Given the description of an element on the screen output the (x, y) to click on. 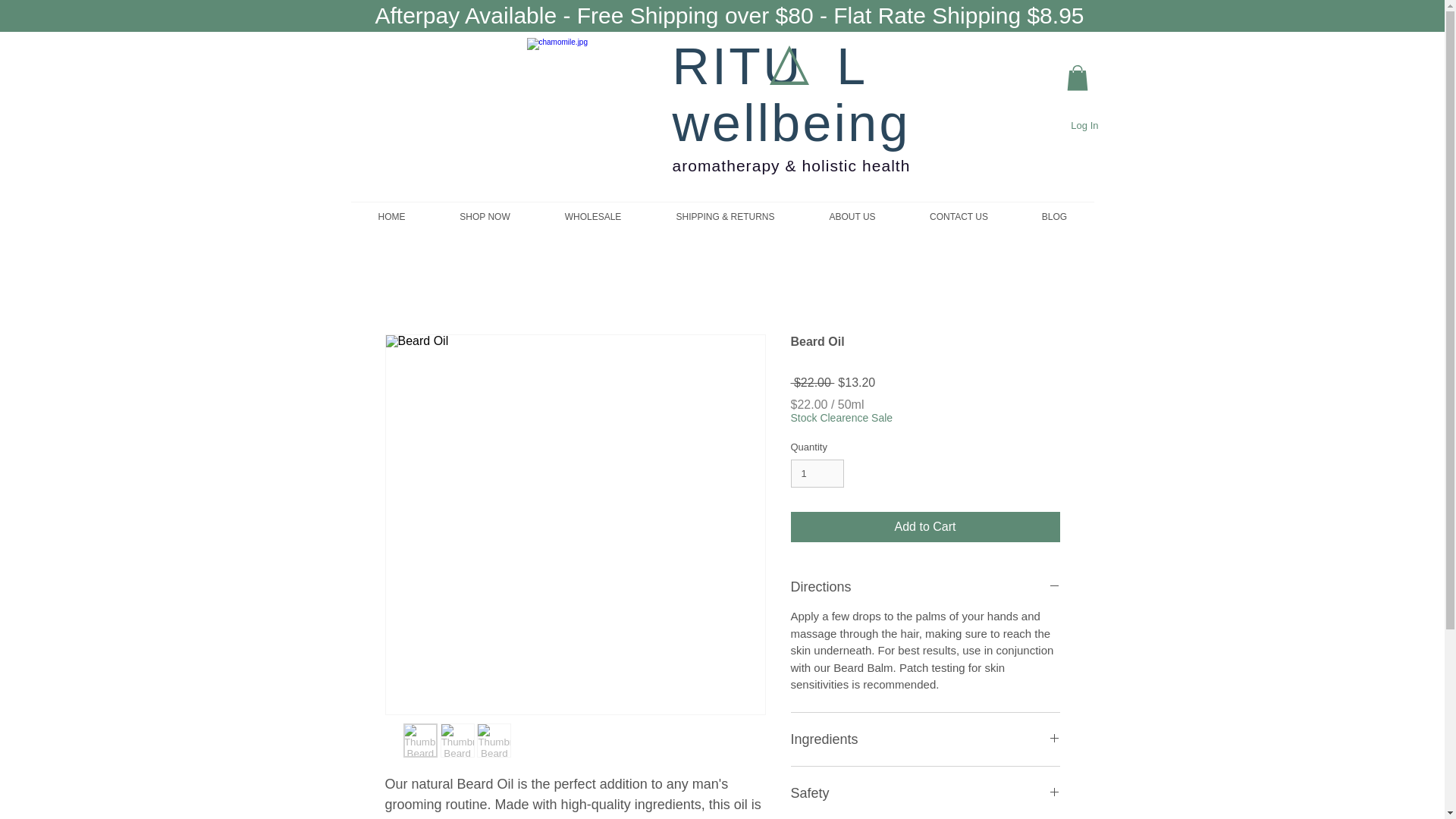
wellbeing (790, 122)
ABOUT US (852, 216)
WHOLESALE (592, 216)
BLOG (1053, 216)
CONTACT US (958, 216)
Ingredients (924, 739)
SHOP NOW (484, 216)
HOME (391, 216)
Add to Cart (924, 526)
Log In (1083, 125)
